Given the description of an element on the screen output the (x, y) to click on. 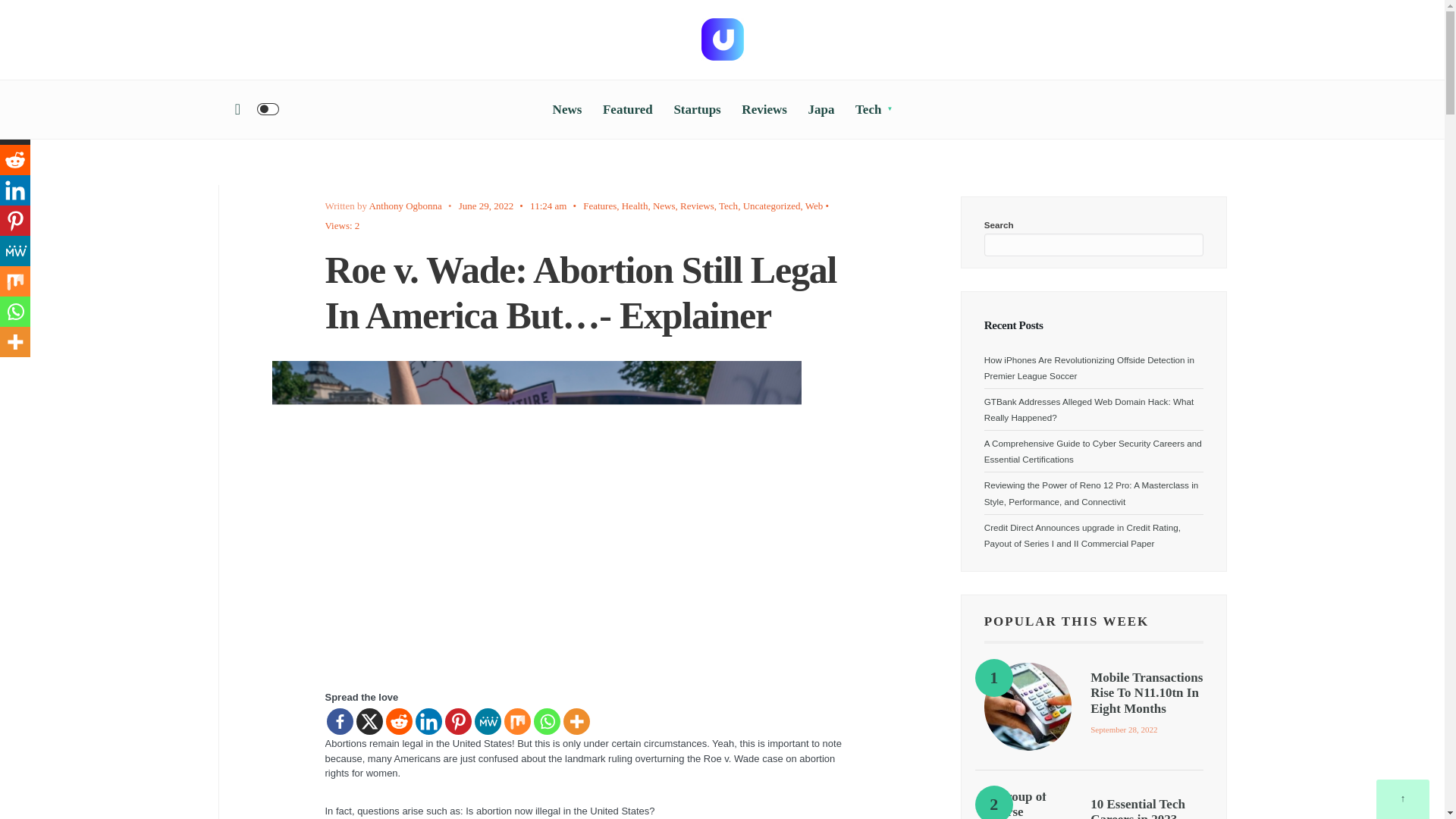
MeWe (487, 721)
Uncategorized (771, 205)
Mix (516, 721)
Pinterest (457, 721)
Reddit (398, 721)
Tech (873, 109)
Reviews (763, 109)
X (369, 721)
Tech (728, 205)
Anthony Ogbonna (404, 205)
